Given the description of an element on the screen output the (x, y) to click on. 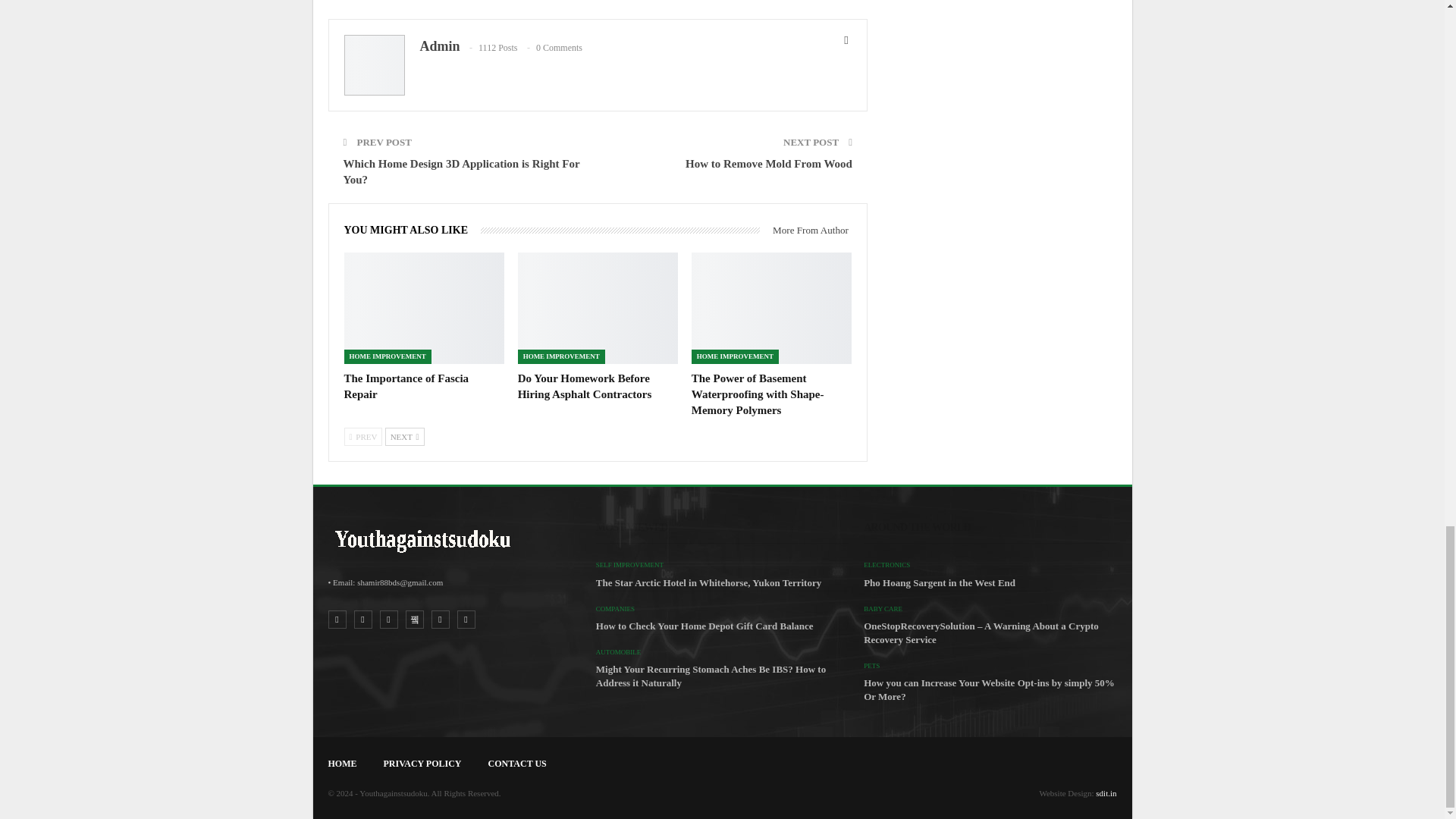
Previous (362, 436)
Do Your Homework Before Hiring Asphalt Contractors (585, 386)
Next (405, 436)
The Importance of Fascia Repair (405, 386)
Do Your Homework Before Hiring Asphalt Contractors (598, 308)
The Importance of Fascia Repair (423, 308)
